Given the description of an element on the screen output the (x, y) to click on. 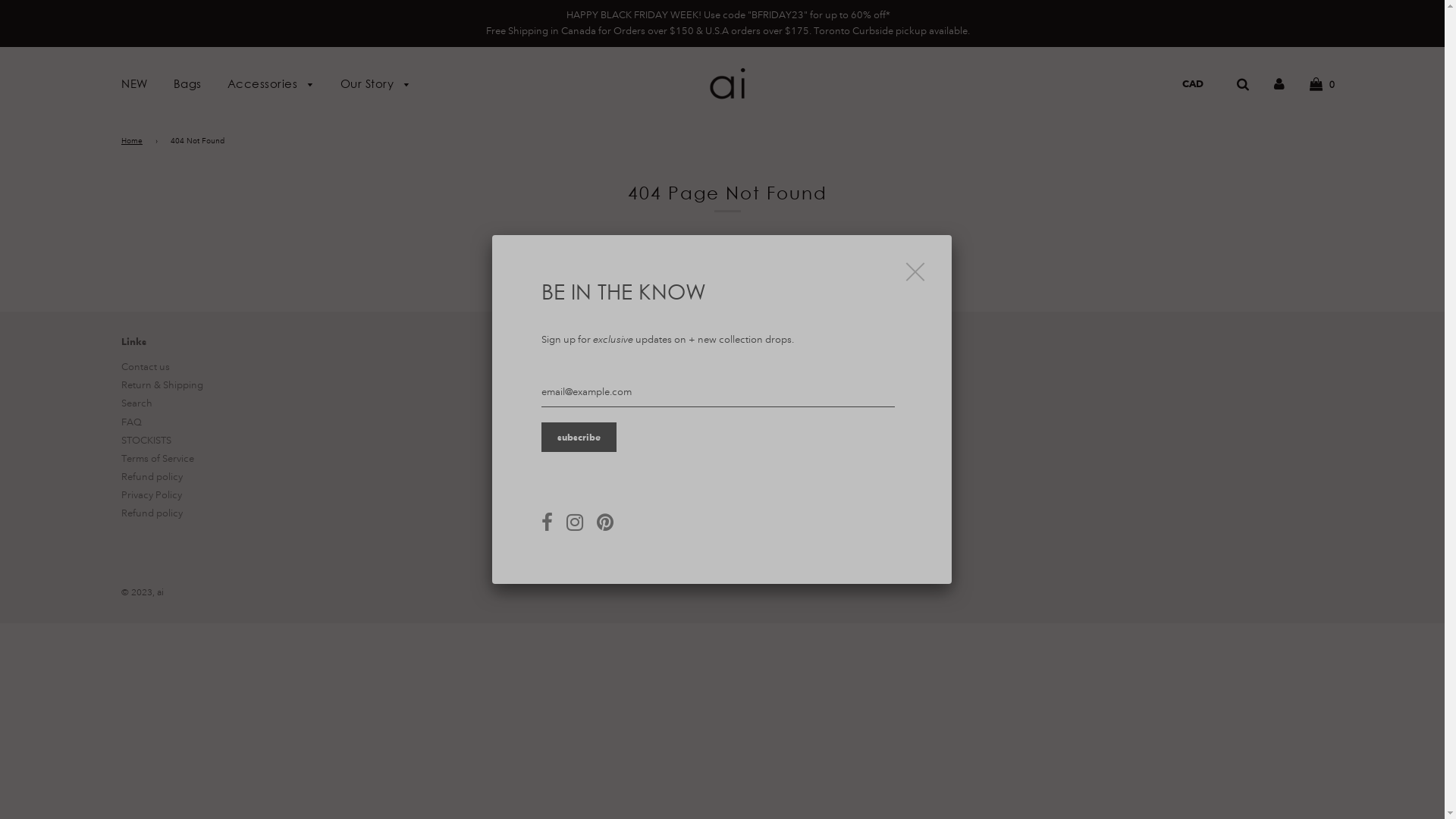
Bags Element type: text (187, 83)
0 Element type: text (1321, 83)
Privacy Policy Element type: text (151, 495)
Our Story Element type: text (370, 84)
here Element type: text (777, 253)
STOCKISTS Element type: text (146, 440)
Refund policy Element type: text (151, 476)
NEW Element type: text (134, 83)
FAQ Element type: text (131, 421)
Accessories Element type: text (270, 84)
Refund policy Element type: text (151, 513)
Log in Element type: hover (1279, 83)
Home Element type: text (134, 140)
Search Element type: text (136, 403)
Terms of Service Element type: text (157, 458)
Return & Shipping Element type: text (162, 385)
Subscribe Element type: text (578, 436)
Contact us Element type: text (145, 366)
